Given the description of an element on the screen output the (x, y) to click on. 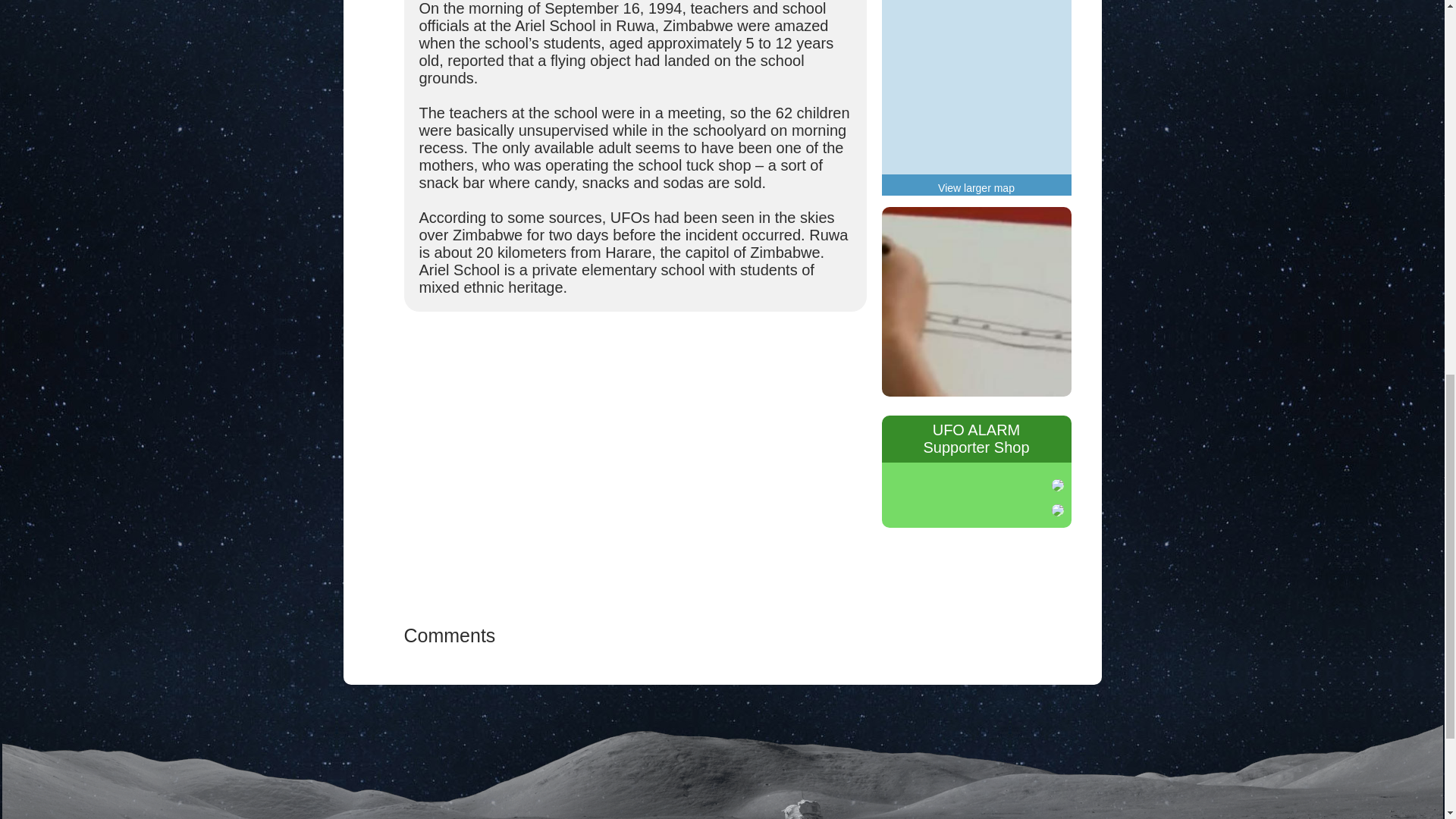
View larger map (975, 187)
